Given the description of an element on the screen output the (x, y) to click on. 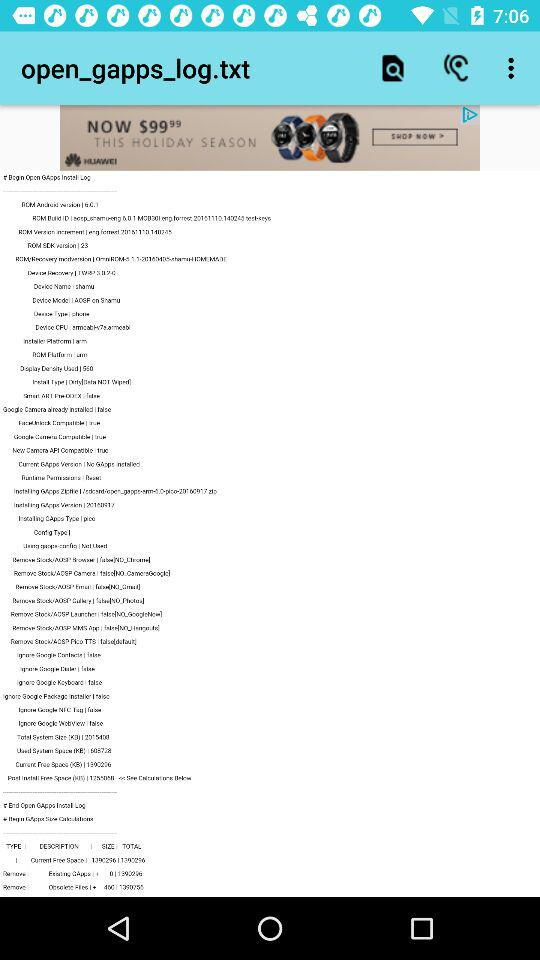
click advertisement (270, 137)
